Given the description of an element on the screen output the (x, y) to click on. 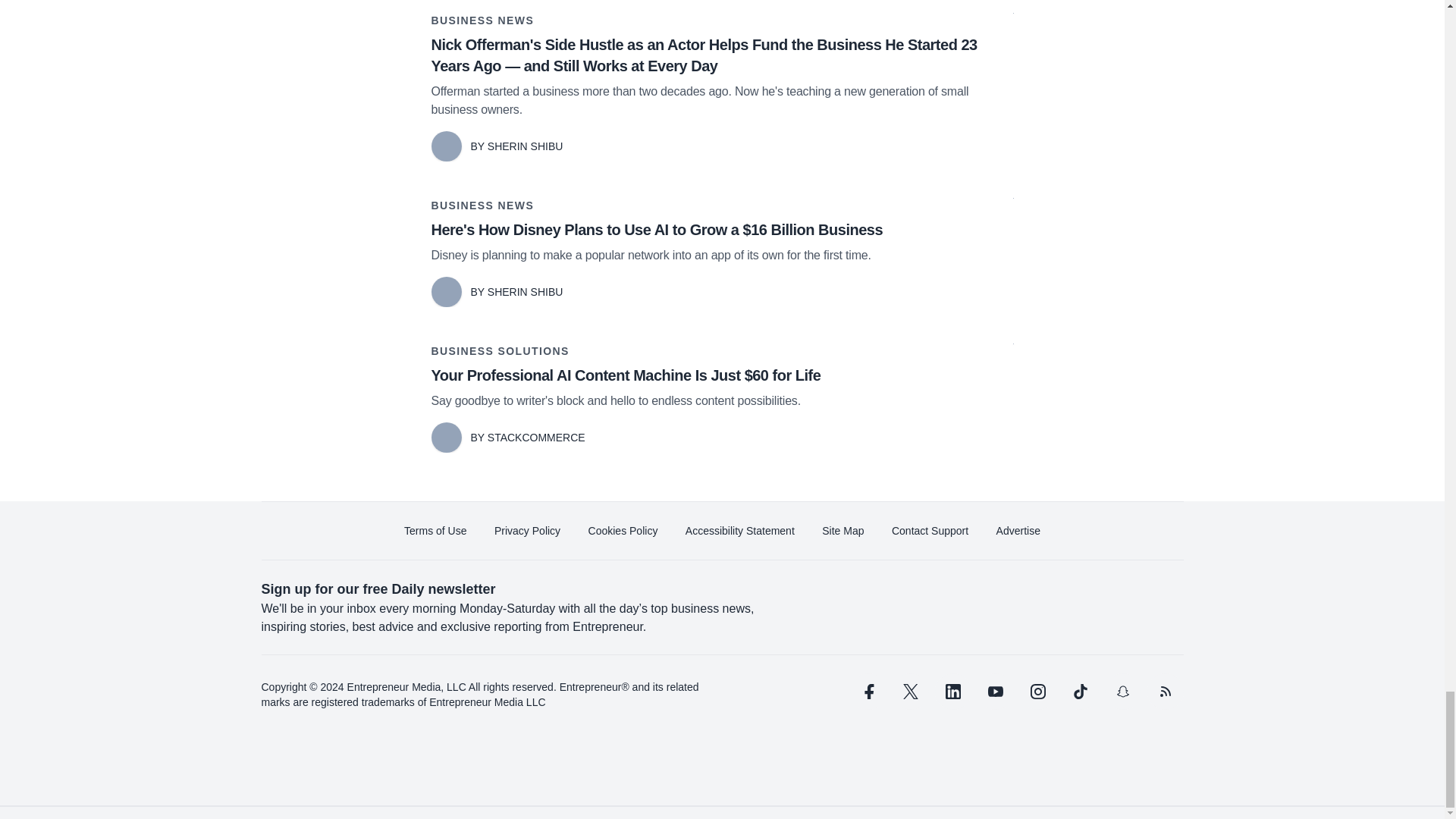
snapchat (1121, 691)
linkedin (952, 691)
youtube (994, 691)
twitter (909, 691)
tiktok (1079, 691)
facebook (866, 691)
instagram (1037, 691)
